Given the description of an element on the screen output the (x, y) to click on. 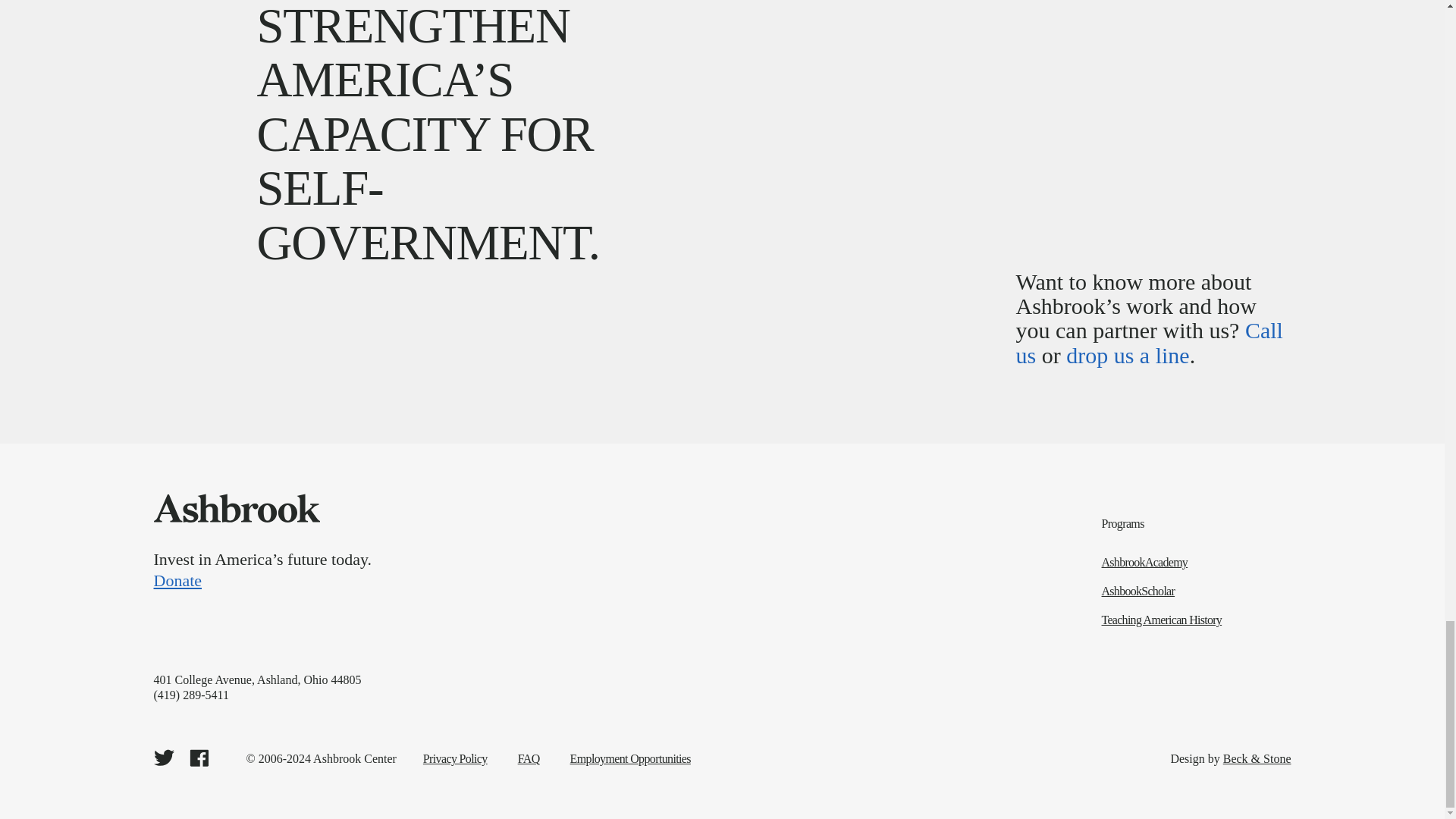
FAQ (529, 758)
drop us a line (1127, 355)
Ashbrook Center (235, 507)
AshbookScholar (1196, 590)
Call us (1149, 341)
Teaching American History (1196, 620)
Donate (531, 580)
Privacy Policy (455, 758)
AshbrookAcademy (1196, 562)
Employment Opportunities (630, 758)
